Given the description of an element on the screen output the (x, y) to click on. 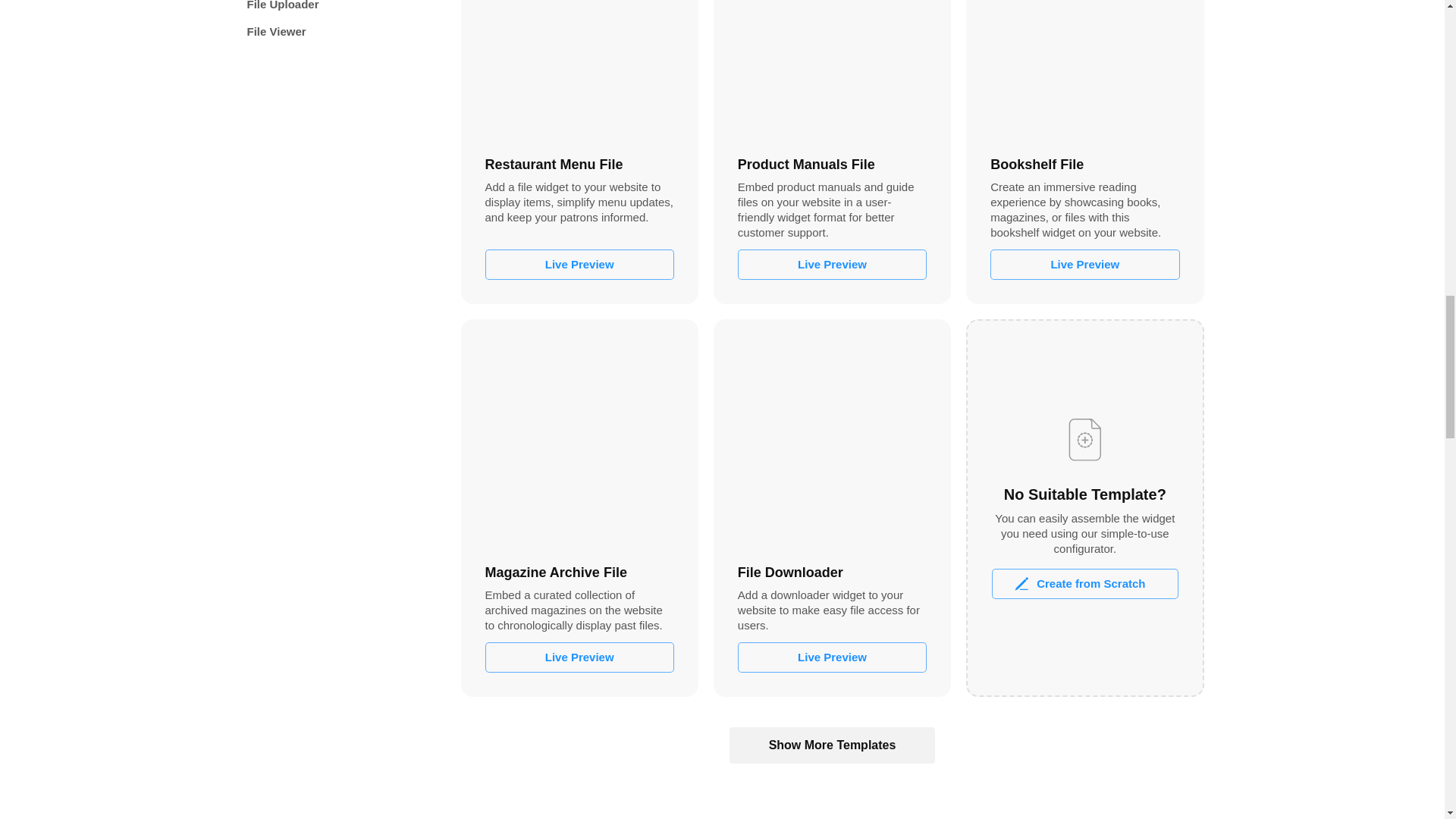
Product Manuals File (832, 70)
File Downloader (832, 437)
Magazine Archive File (579, 437)
Bookshelf File (1084, 70)
Restaurant Menu File (579, 70)
